Given the description of an element on the screen output the (x, y) to click on. 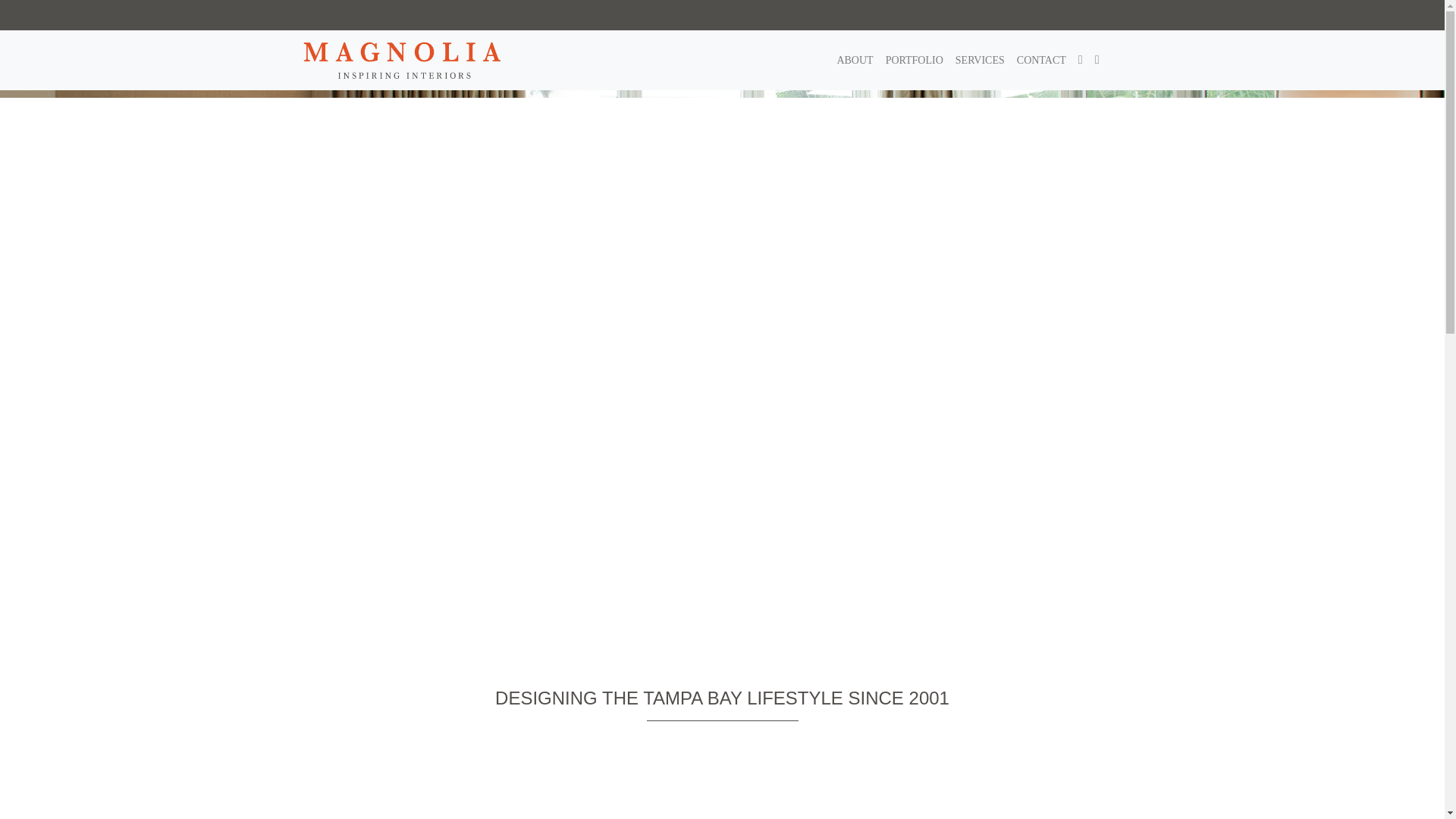
ABOUT (854, 59)
PORTFOLIO (914, 59)
CONTACT (1040, 59)
SERVICES (979, 59)
Magnolia Inspiring Interiors Home (401, 60)
